Given the description of an element on the screen output the (x, y) to click on. 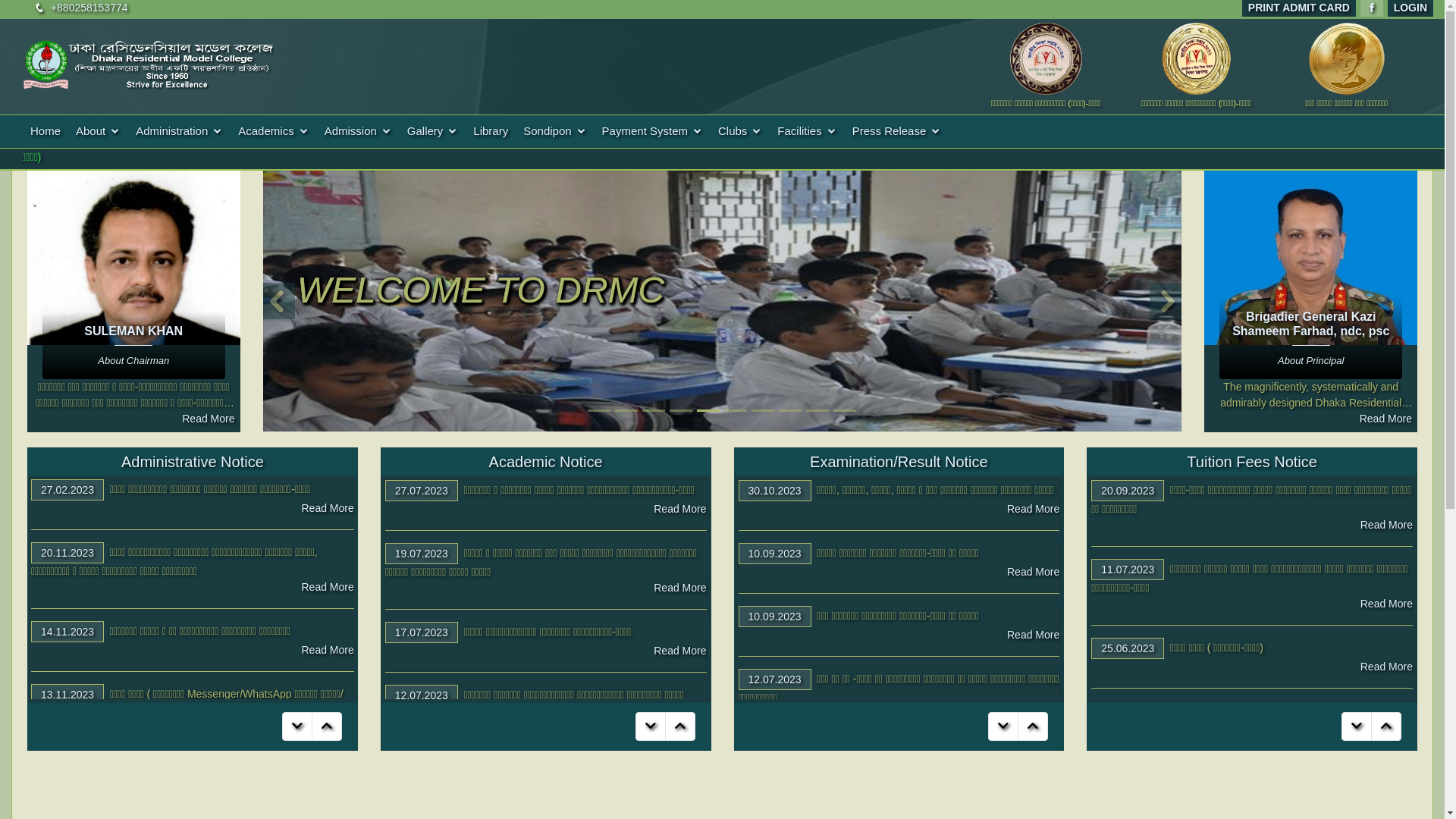
Sondipon Element type: text (554, 131)
About Principal Element type: text (1310, 360)
Previous Element type: text (275, 300)
Next Element type: text (1167, 300)
Clubs Element type: text (739, 131)
Read More Element type: text (327, 508)
Read More Element type: text (327, 570)
Library Element type: text (490, 131)
About Chairman Element type: text (133, 360)
Read More Element type: text (1033, 650)
About Element type: text (98, 131)
Read More Element type: text (1385, 418)
Press Release Element type: text (896, 131)
Read More Element type: text (1033, 587)
Facilities Element type: text (806, 131)
Administration Element type: text (179, 131)
Read More Element type: text (208, 418)
Read More Element type: text (1386, 603)
Read More Element type: text (1386, 682)
Read More Element type: text (1386, 524)
Read More Element type: text (679, 639)
Admission Element type: text (357, 131)
Gallery Element type: text (432, 131)
Payment System Element type: text (652, 131)
Read More Element type: text (679, 577)
Academics Element type: text (273, 131)
Read More Element type: text (1033, 524)
Read More Element type: text (679, 508)
Home Element type: text (45, 131)
Read More Element type: text (327, 633)
